Given the description of an element on the screen output the (x, y) to click on. 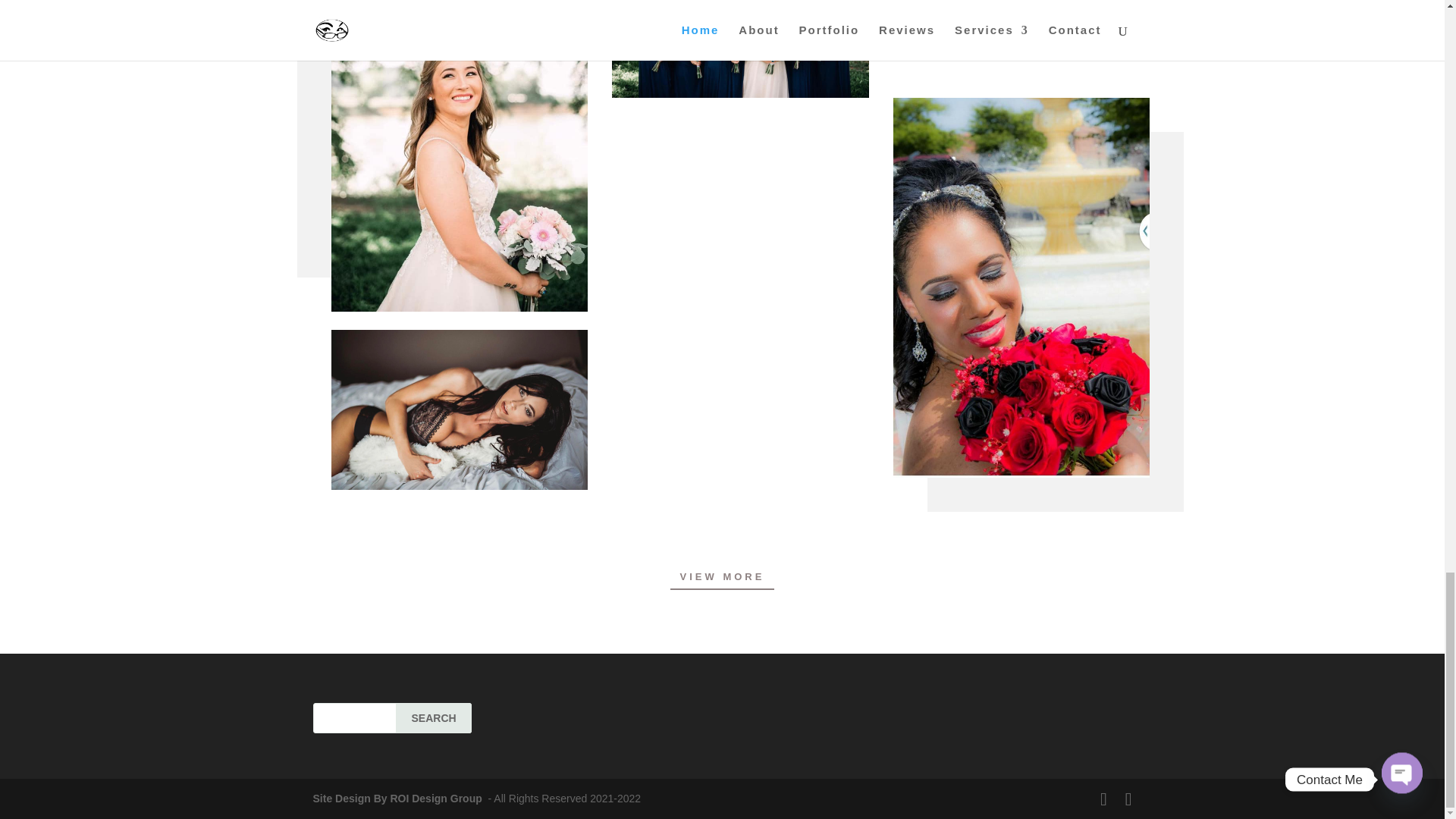
wedding4 (739, 49)
Site Design By ROI Design Group  (398, 798)
Search (433, 717)
Search (433, 717)
VIEW MORE (721, 576)
